Given the description of an element on the screen output the (x, y) to click on. 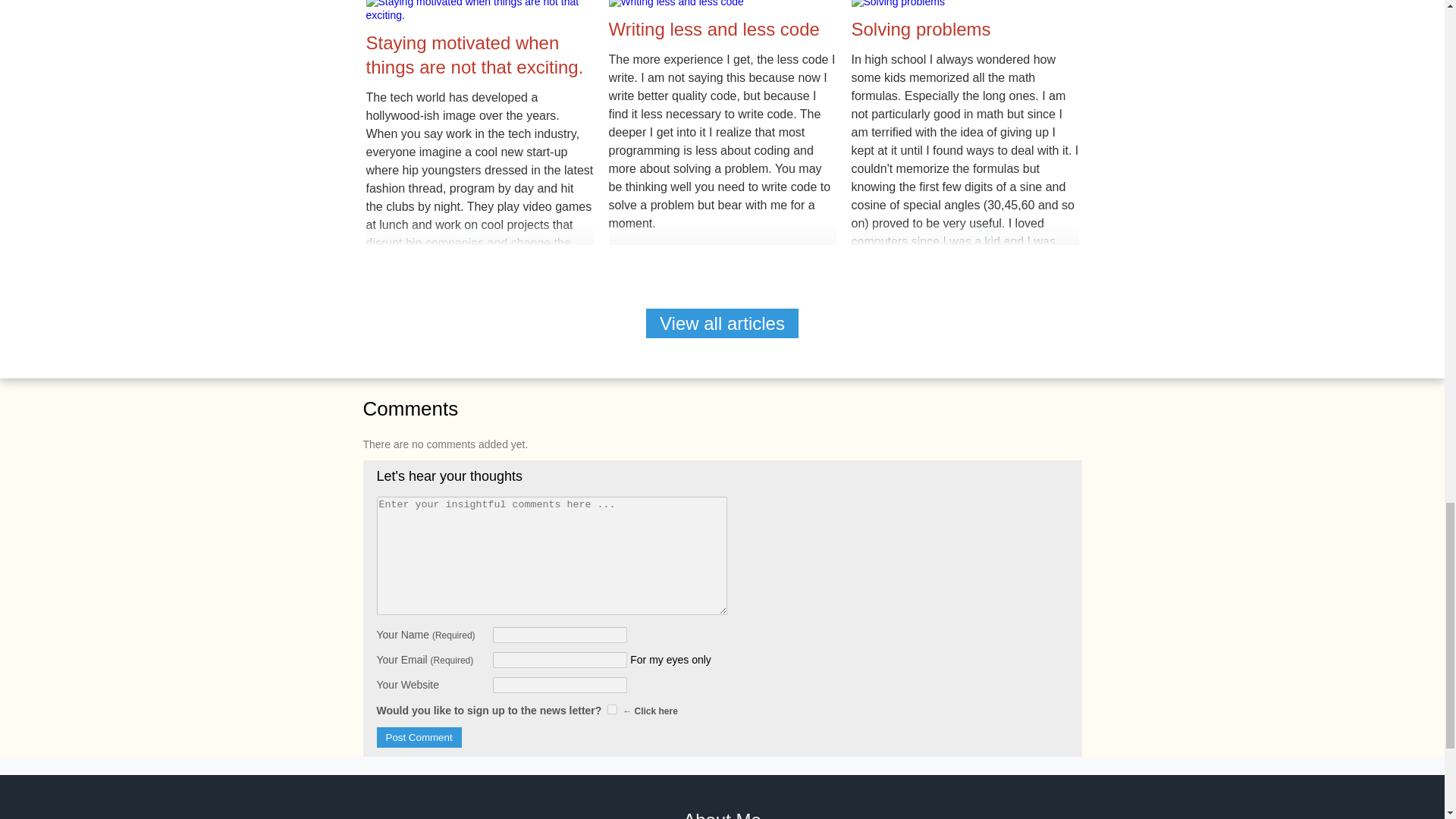
View all articles (721, 323)
Post Comment (418, 737)
1 (612, 709)
Staying motivated when things are not that exciting. (478, 44)
Writing less and less code (721, 20)
Solving problems (964, 20)
Post Comment (418, 737)
